Given the description of an element on the screen output the (x, y) to click on. 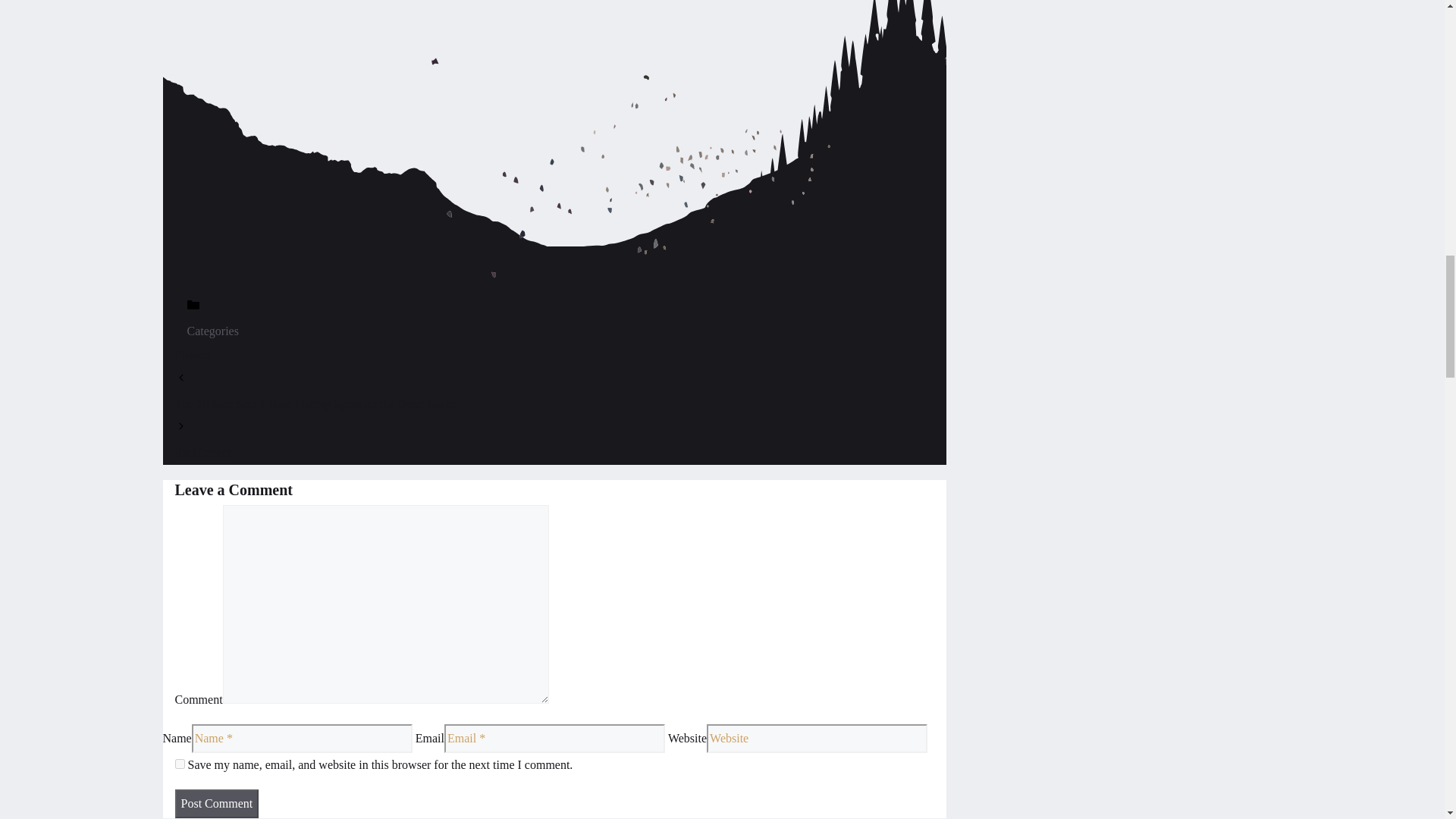
Post Comment (216, 803)
Fishing (192, 354)
Ice Hunters (202, 451)
Post Comment (216, 803)
yes (179, 764)
The 16 Best Small-Boat Fishing Spots on the Great Lakes (314, 403)
